Given the description of an element on the screen output the (x, y) to click on. 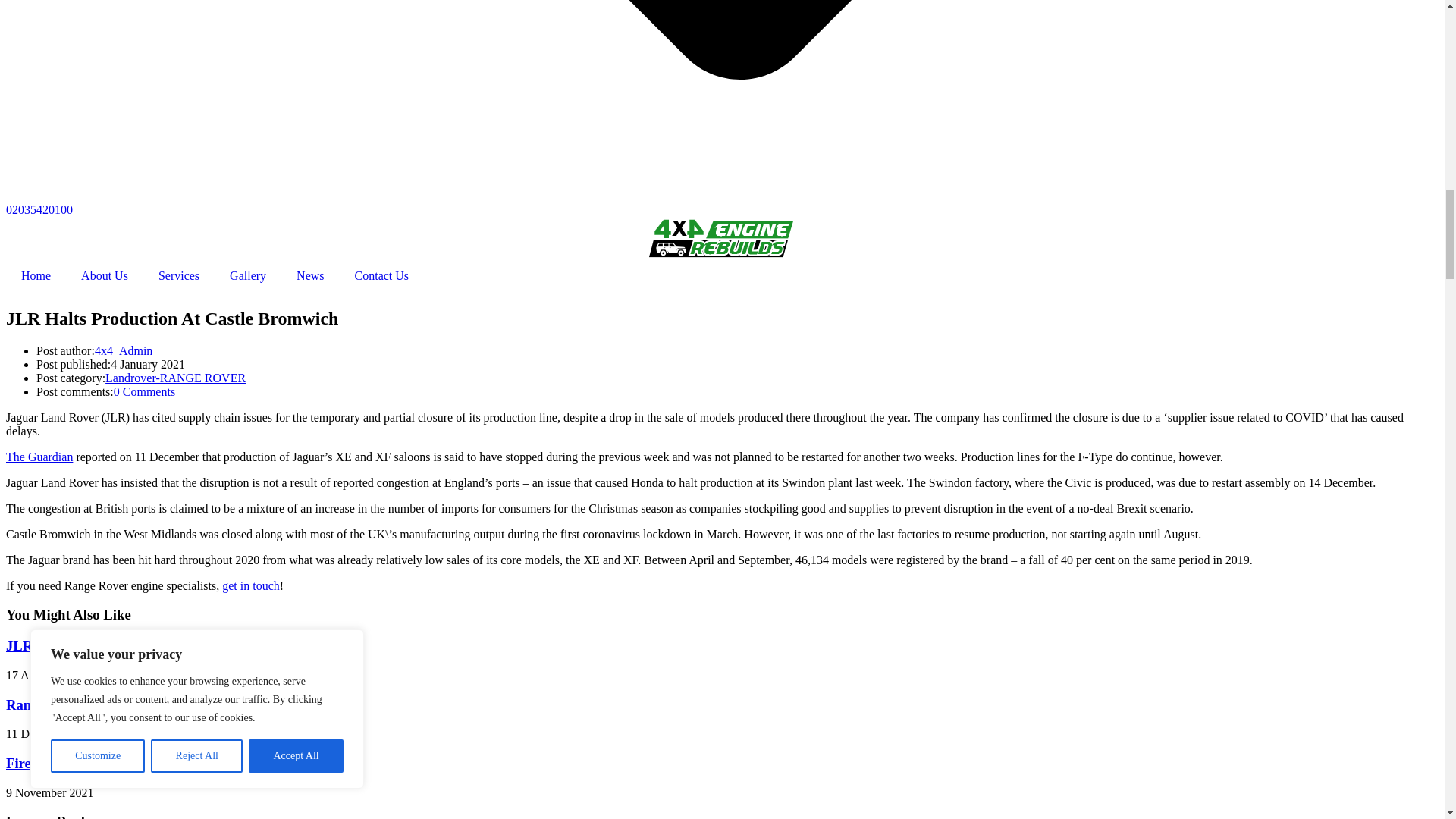
About Us (103, 275)
Home (35, 275)
Services (178, 275)
